Given the description of an element on the screen output the (x, y) to click on. 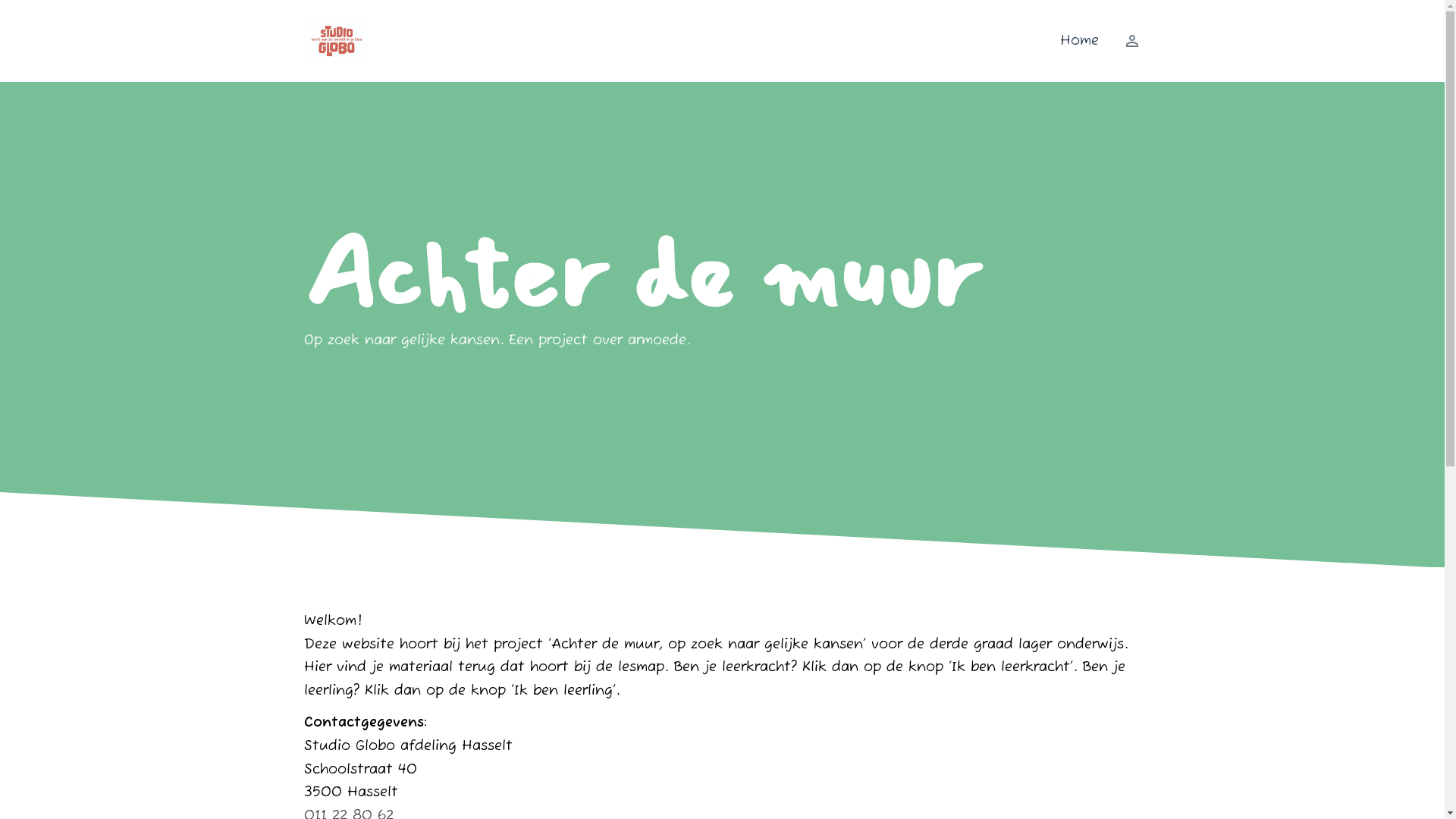
Inloggen Element type: hover (1125, 40)
Studio Globo Element type: hover (336, 40)
Home Element type: text (1079, 41)
